Given the description of an element on the screen output the (x, y) to click on. 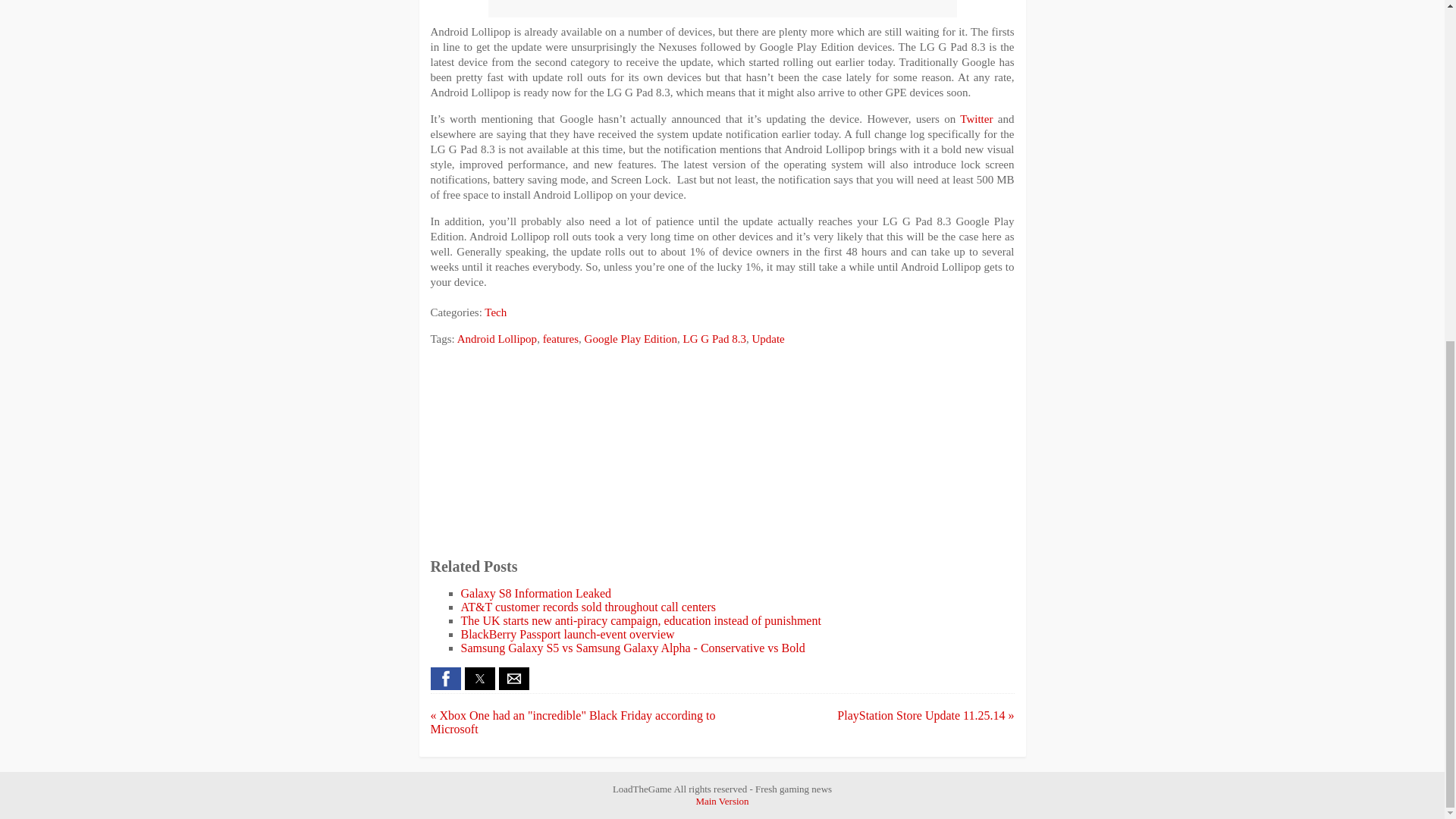
Update (767, 338)
BlackBerry Passport launch-event overview (568, 634)
LG G Pad 8.3 (713, 338)
Google Play Edition (631, 338)
Galaxy S8 Information Leaked (536, 593)
Twitter (975, 119)
Main Version (721, 800)
Tech (495, 312)
Android Lollipop (497, 338)
features (560, 338)
